Given the description of an element on the screen output the (x, y) to click on. 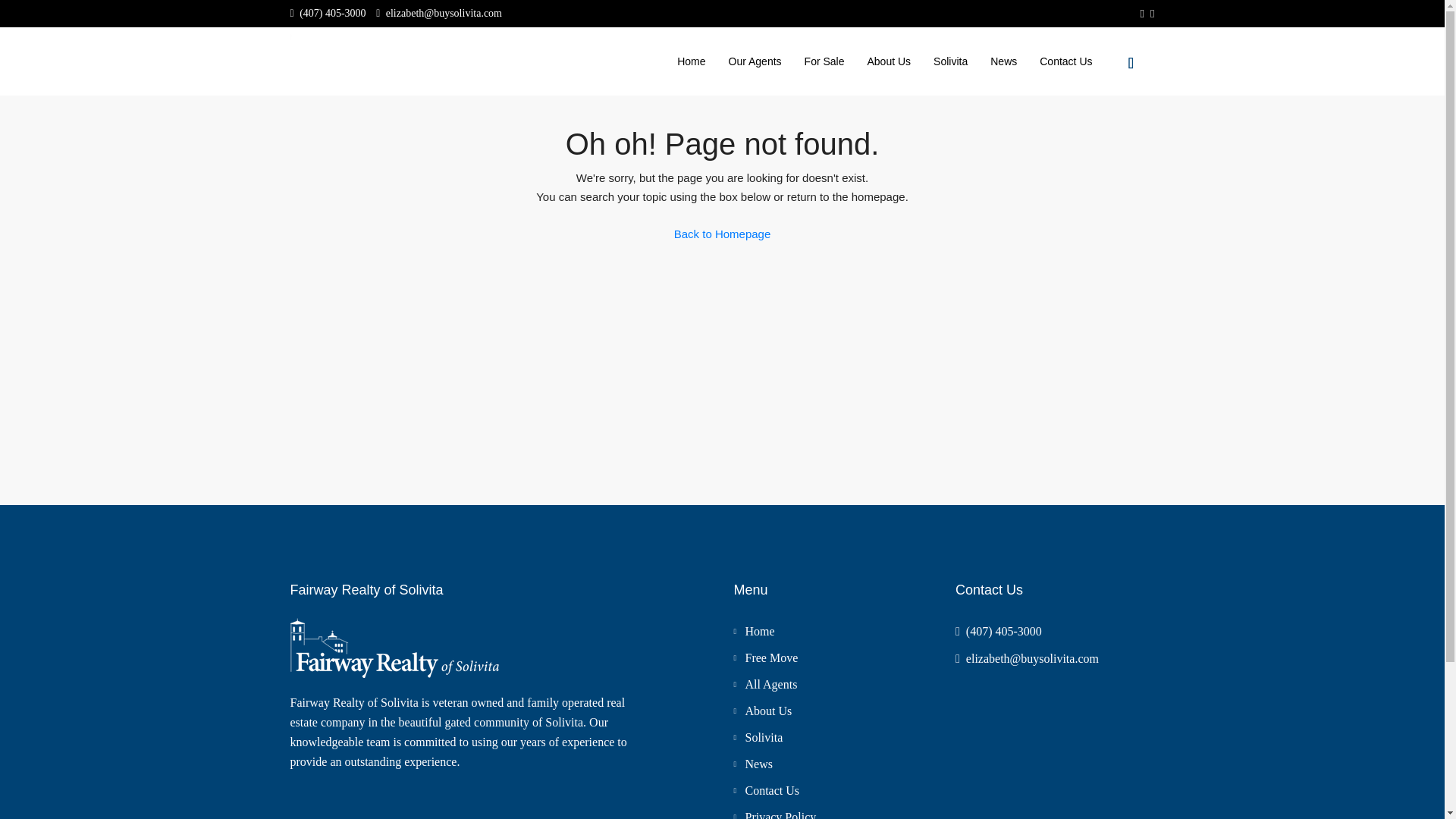
Our Agents (755, 61)
Home (753, 631)
About Us (762, 710)
For Sale (824, 61)
All Agents (764, 684)
Solivita (758, 737)
Back to Homepage (722, 234)
About Us (888, 61)
News (752, 763)
Contact Us (766, 789)
